Given the description of an element on the screen output the (x, y) to click on. 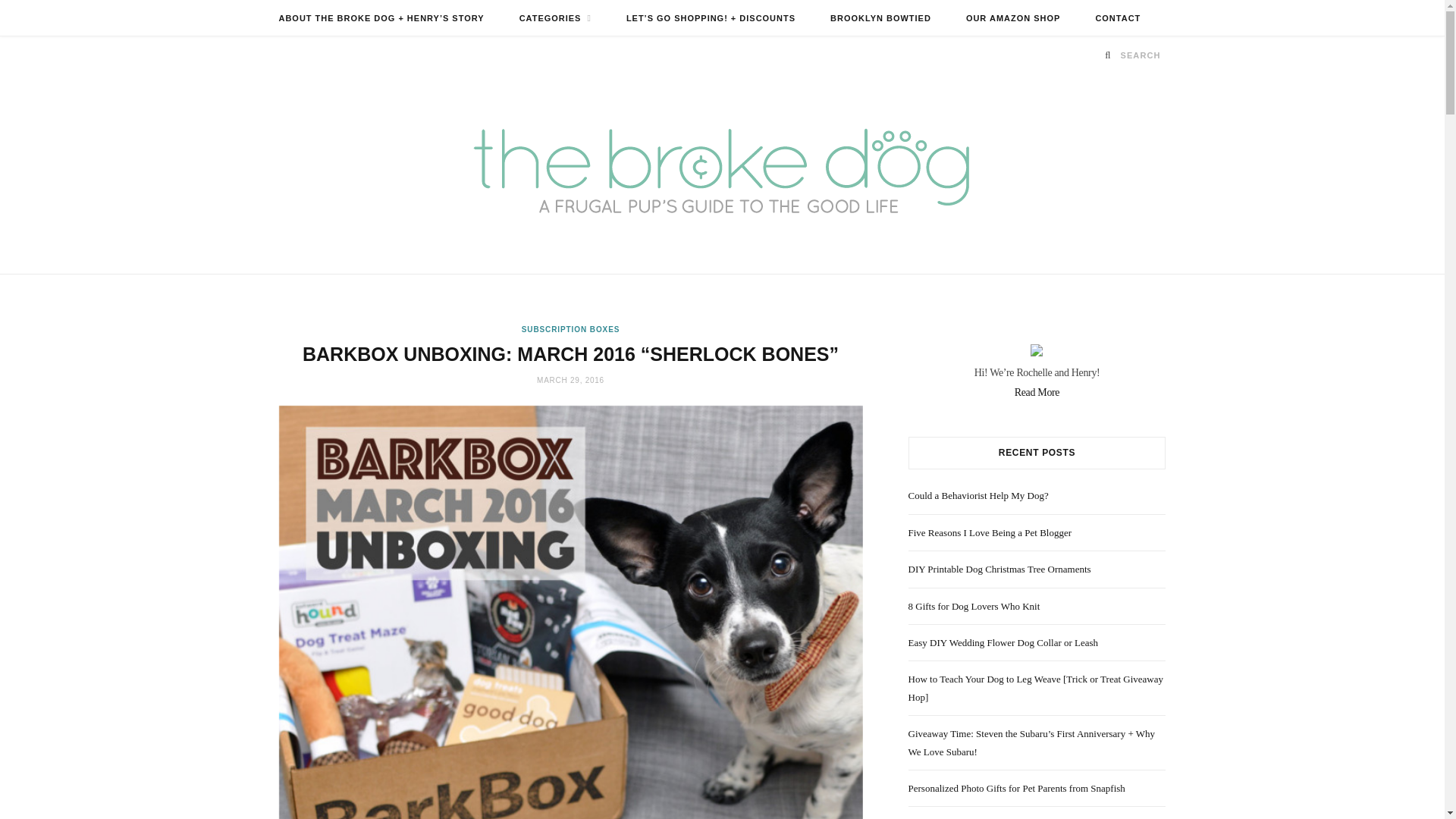
SUBSCRIPTION BOXES (570, 329)
CATEGORIES (555, 18)
OUR AMAZON SHOP (1012, 18)
The Broke Dog (722, 173)
BROOKLYN BOWTIED (880, 18)
CONTACT (1117, 18)
MARCH 29, 2016 (570, 379)
